Given the description of an element on the screen output the (x, y) to click on. 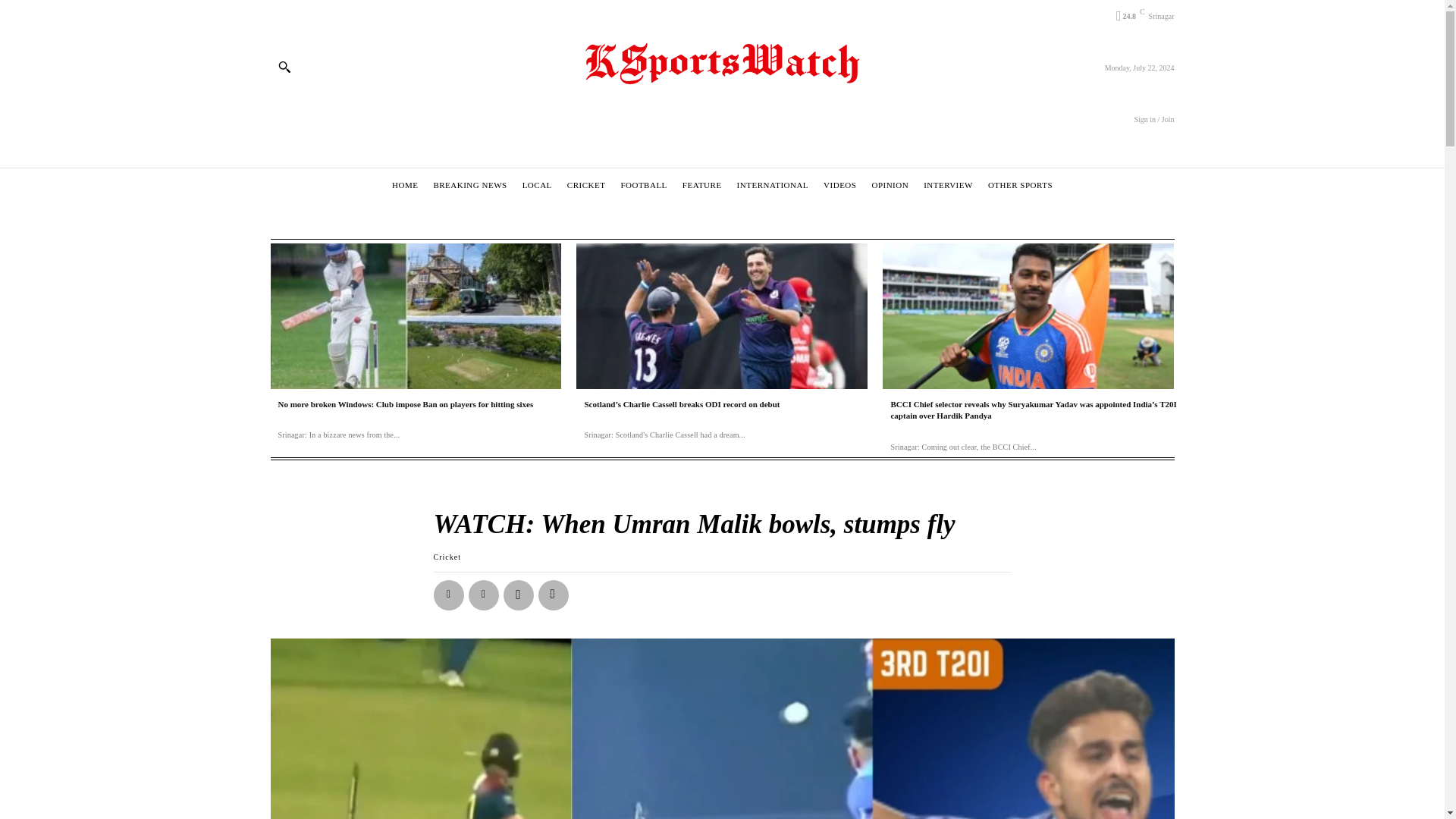
INTERVIEW (948, 185)
View all posts in Cricket (447, 556)
FEATURE (701, 185)
FOOTBALL (642, 185)
CRICKET (586, 185)
HOME (405, 185)
LOCAL (537, 185)
VIDEOS (839, 185)
Facebook (448, 594)
OTHER SPORTS (1020, 185)
OPINION (889, 185)
Ksportswatch logo (721, 64)
